Given the description of an element on the screen output the (x, y) to click on. 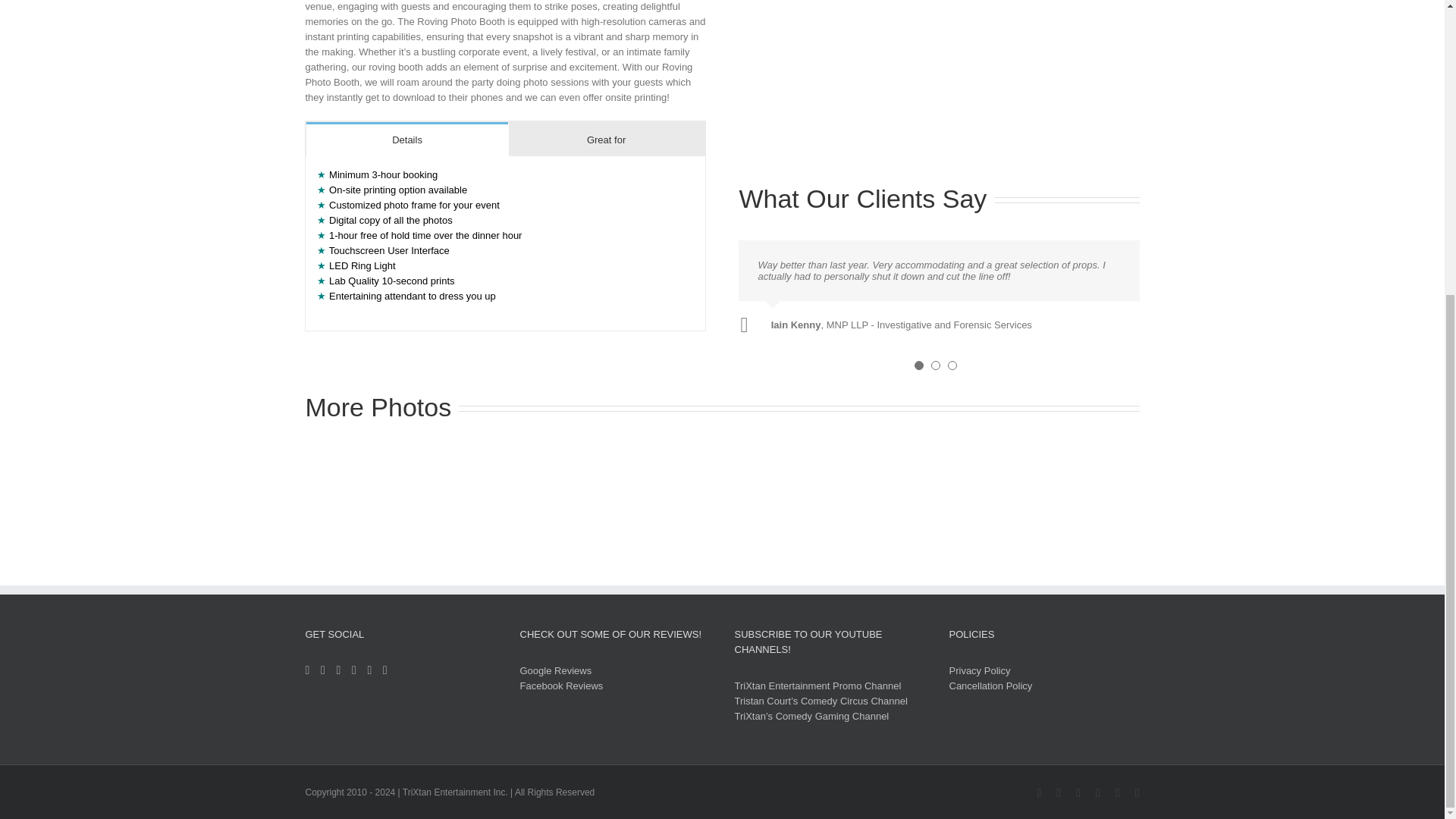
Check out some of our reviews on Facebook here! (561, 685)
YouTube video player 1 (965, 284)
Check out Tristan Court's Comedy Circus Channel (820, 700)
Check out some of our reviews on google here! (555, 670)
